Given the description of an element on the screen output the (x, y) to click on. 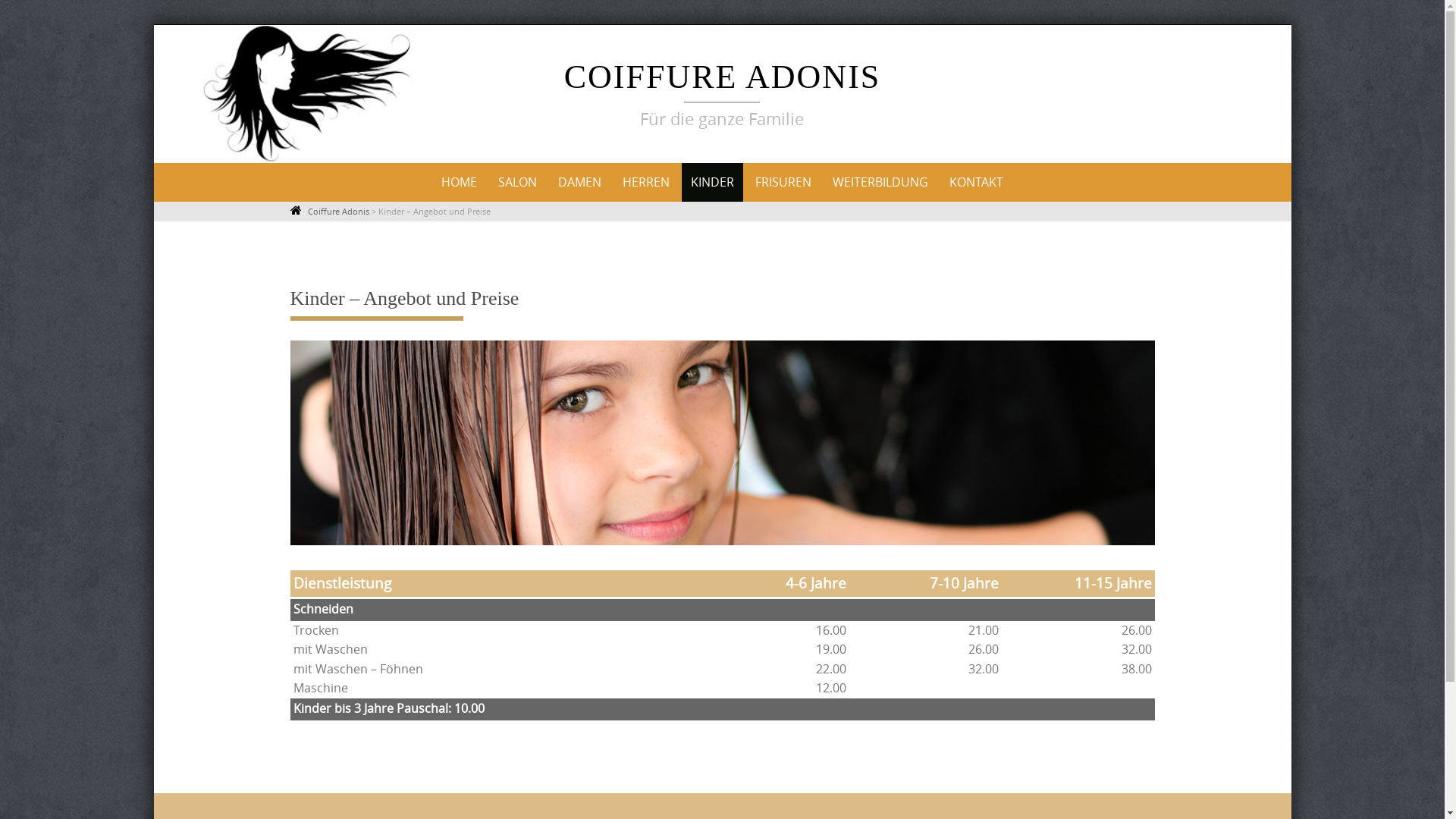
DAMEN Element type: text (579, 182)
COIFFURE ADONIS Element type: text (722, 76)
HOME Element type: text (459, 182)
KINDER Element type: text (712, 182)
Skip to content Element type: text (153, 24)
Coiffure Adonis Element type: text (338, 210)
SALON Element type: text (517, 182)
FRISUREN Element type: text (783, 182)
Skip to content Element type: text (274, 162)
WEITERBILDUNG Element type: text (880, 182)
KONTAKT Element type: text (976, 182)
HERREN Element type: text (645, 182)
